Given the description of an element on the screen output the (x, y) to click on. 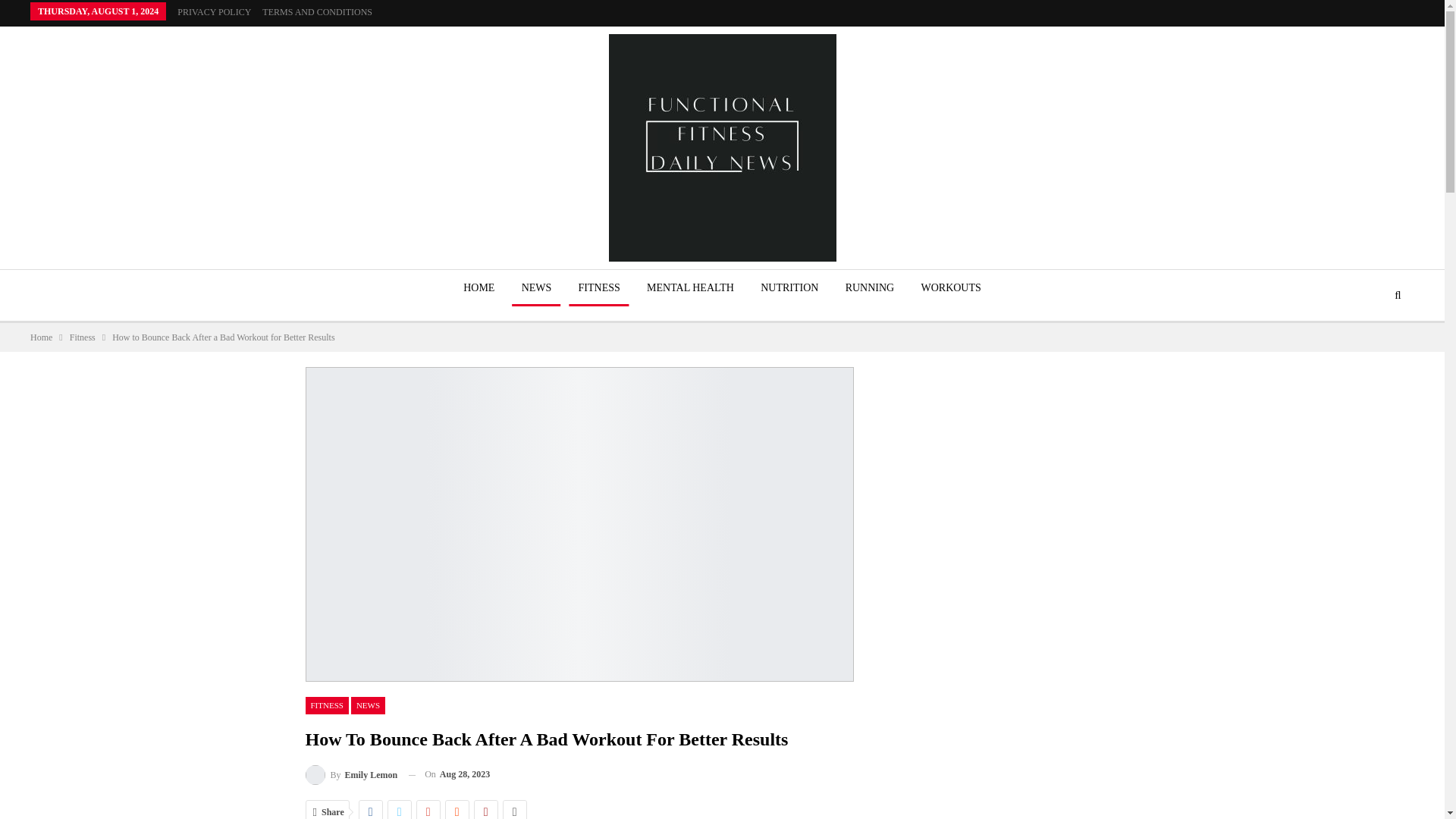
Home (41, 337)
FITNESS (598, 288)
TERMS AND CONDITIONS (317, 11)
HOME (478, 288)
NEWS (536, 288)
NUTRITION (789, 288)
WORKOUTS (950, 288)
MENTAL HEALTH (689, 288)
RUNNING (869, 288)
Browse Author Articles (350, 774)
FITNESS (325, 705)
NEWS (367, 705)
By Emily Lemon (350, 774)
PRIVACY POLICY (213, 11)
Fitness (82, 337)
